Given the description of an element on the screen output the (x, y) to click on. 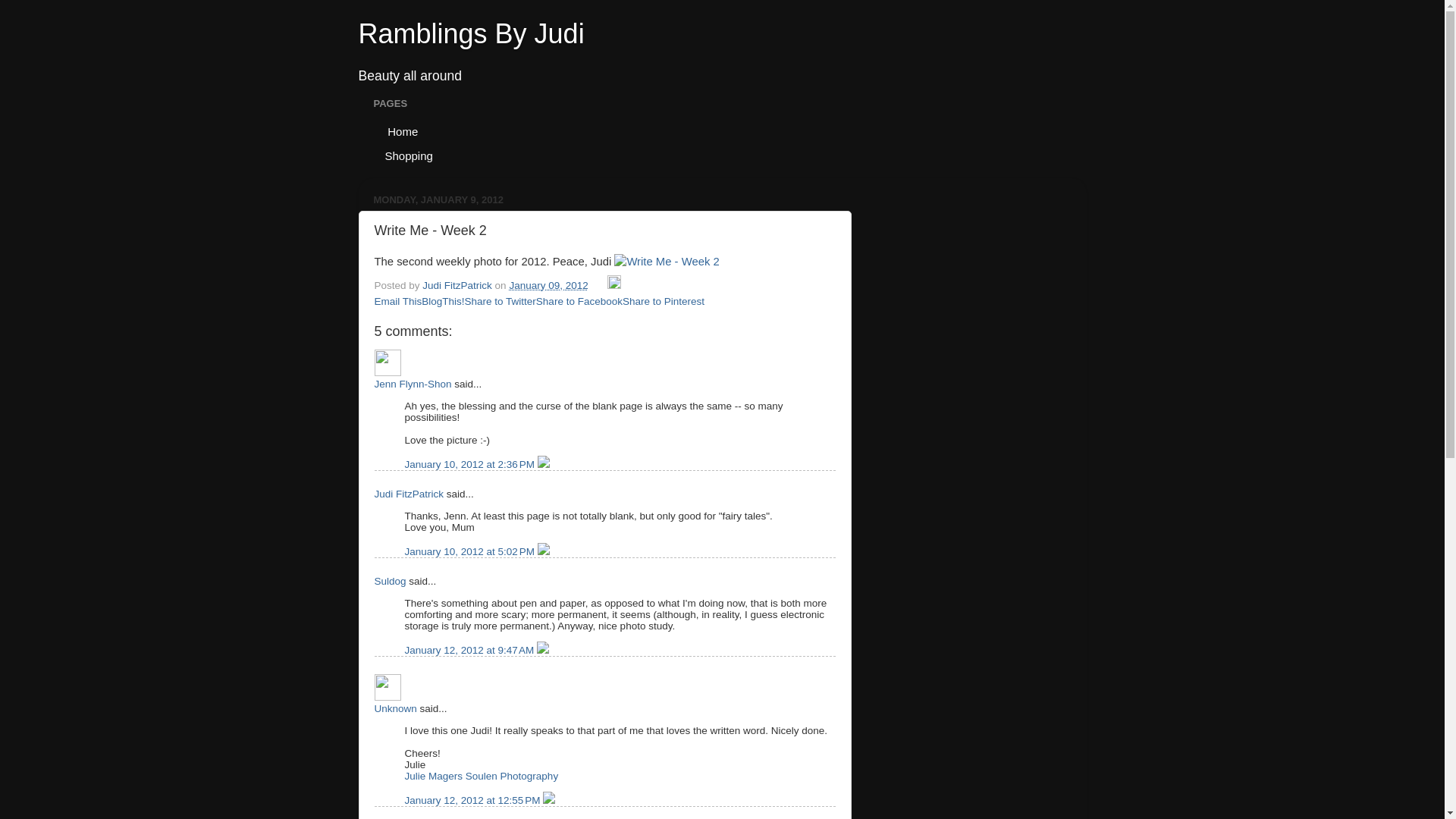
Jenn Flynn-Shon (387, 362)
comment permalink (470, 551)
Ramblings By Judi (470, 33)
author profile (458, 285)
Shopping (408, 155)
BlogThis! (443, 301)
Home (400, 130)
Share to Twitter (499, 301)
Share to Facebook (579, 301)
Edit Post (614, 285)
comment permalink (470, 464)
Share to Twitter (499, 301)
Email This (398, 301)
Delete Comment (543, 464)
